Given the description of an element on the screen output the (x, y) to click on. 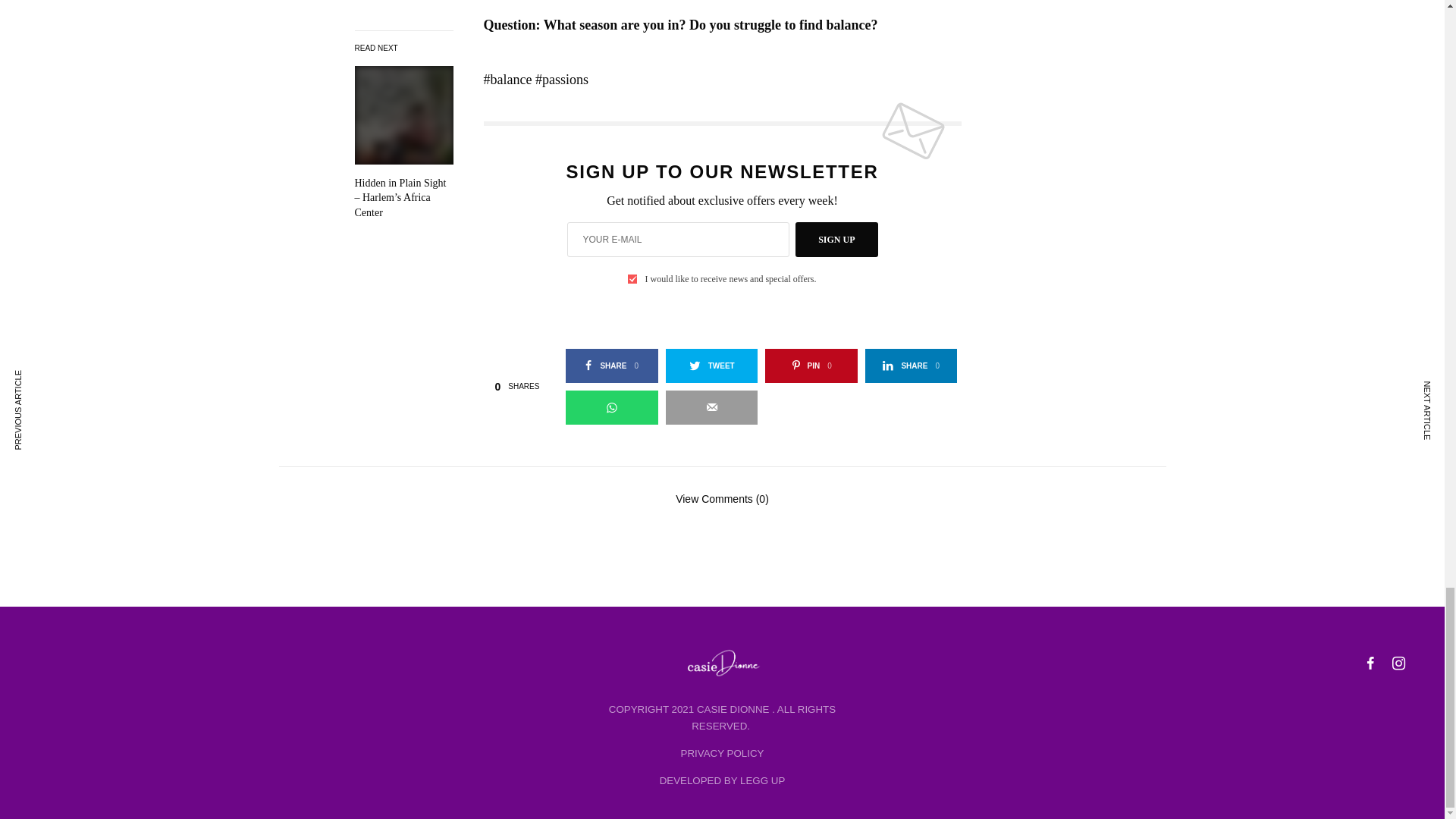
PRIVACY POLICY (722, 754)
Casie Dionne (721, 663)
SIGN UP (835, 239)
TWEET (911, 365)
